Given the description of an element on the screen output the (x, y) to click on. 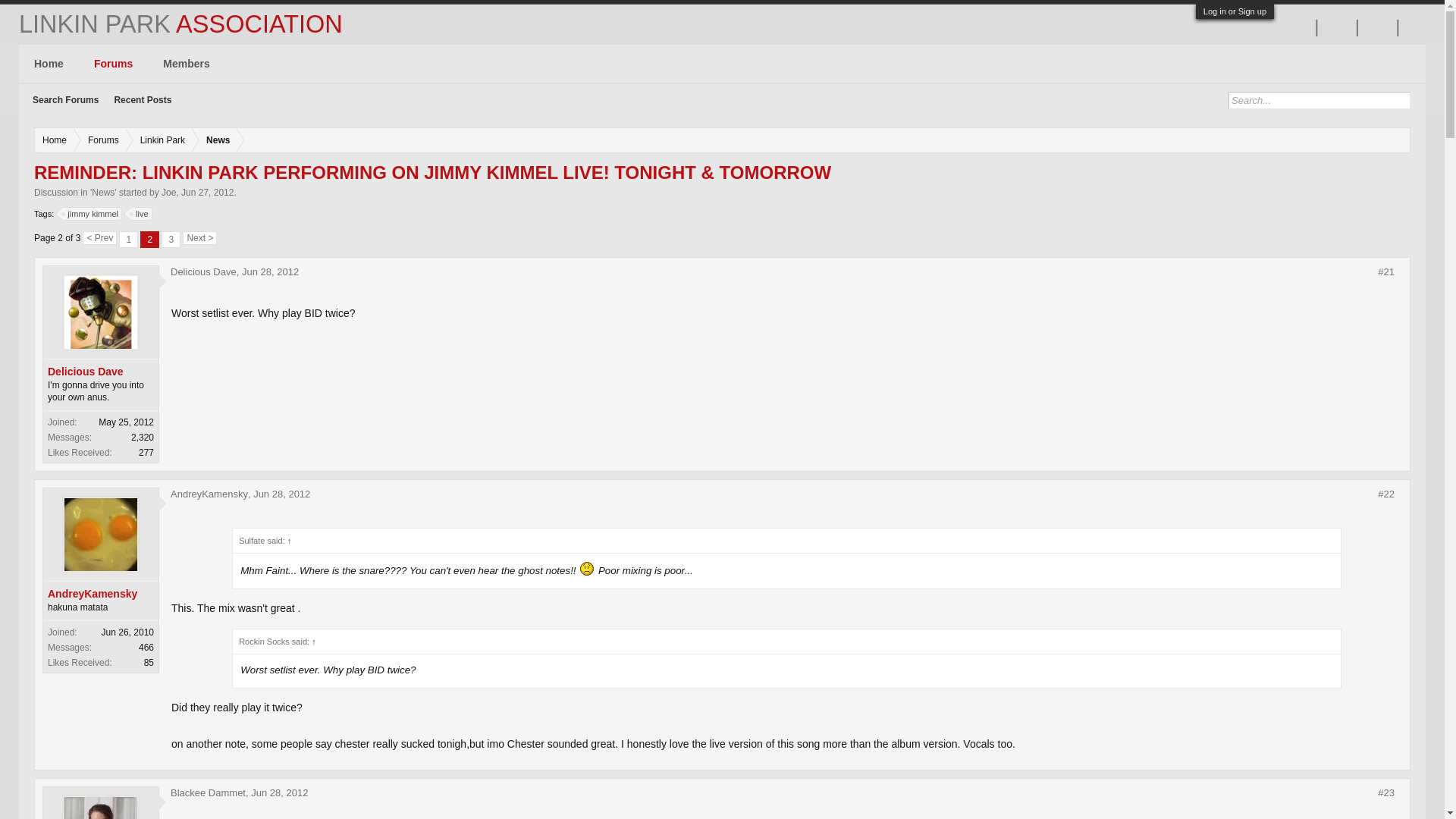
1 (128, 239)
2 (148, 239)
Permalink (1385, 793)
Permalink (278, 792)
Jun 27, 2012 (206, 192)
Linkin Park (159, 140)
Jun 28, 2012 (278, 792)
Delicious Dave (101, 371)
jimmy kimmel (92, 213)
News (214, 140)
Log in or Sign up (1235, 10)
Home (54, 140)
Permalink (281, 493)
AndreyKamensky (208, 493)
3 (170, 239)
